Given the description of an element on the screen output the (x, y) to click on. 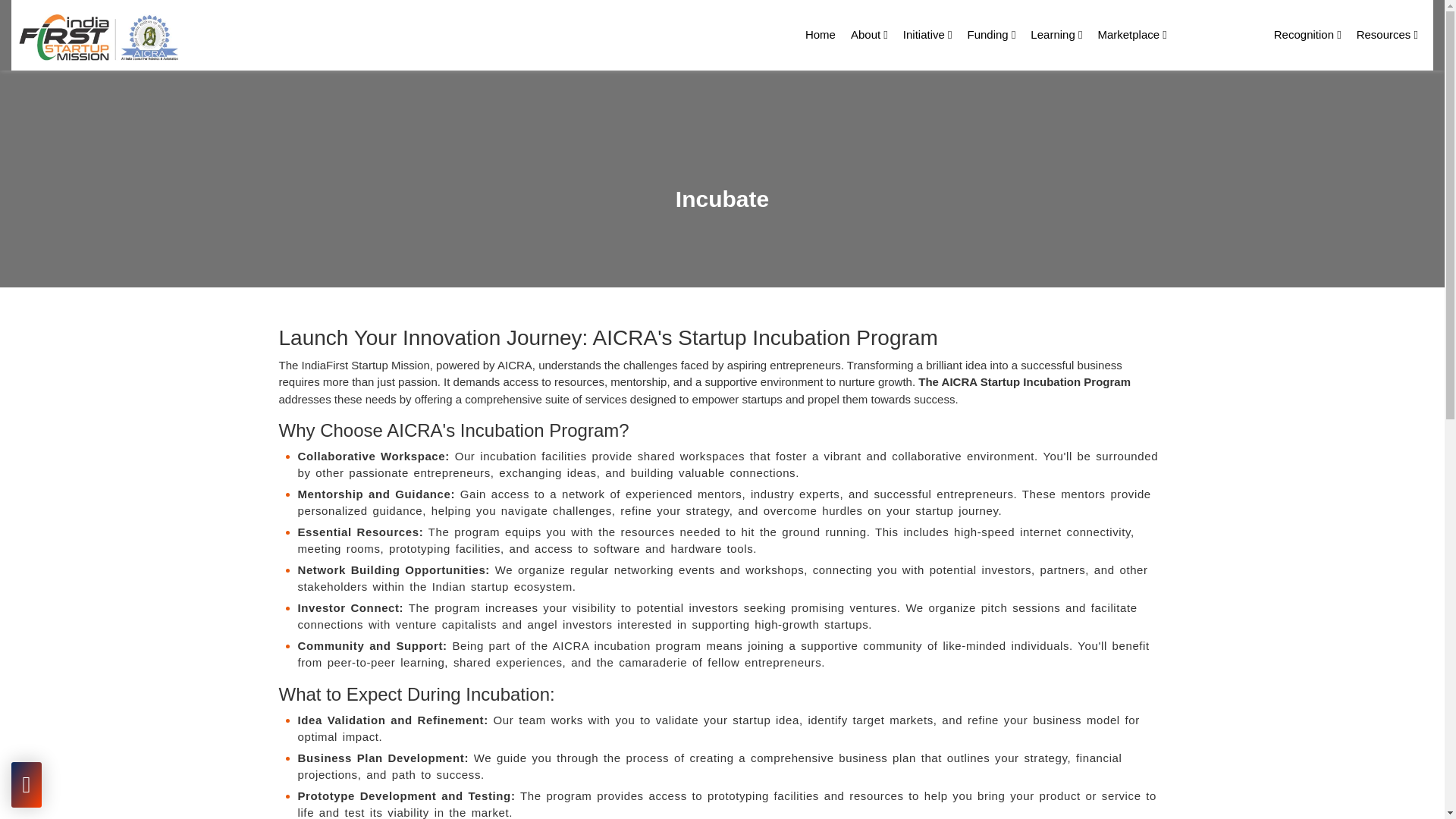
Home (820, 34)
Initiative (927, 34)
Marketplace (1131, 34)
About (869, 34)
Learning (1055, 34)
Funding (992, 34)
